Given the description of an element on the screen output the (x, y) to click on. 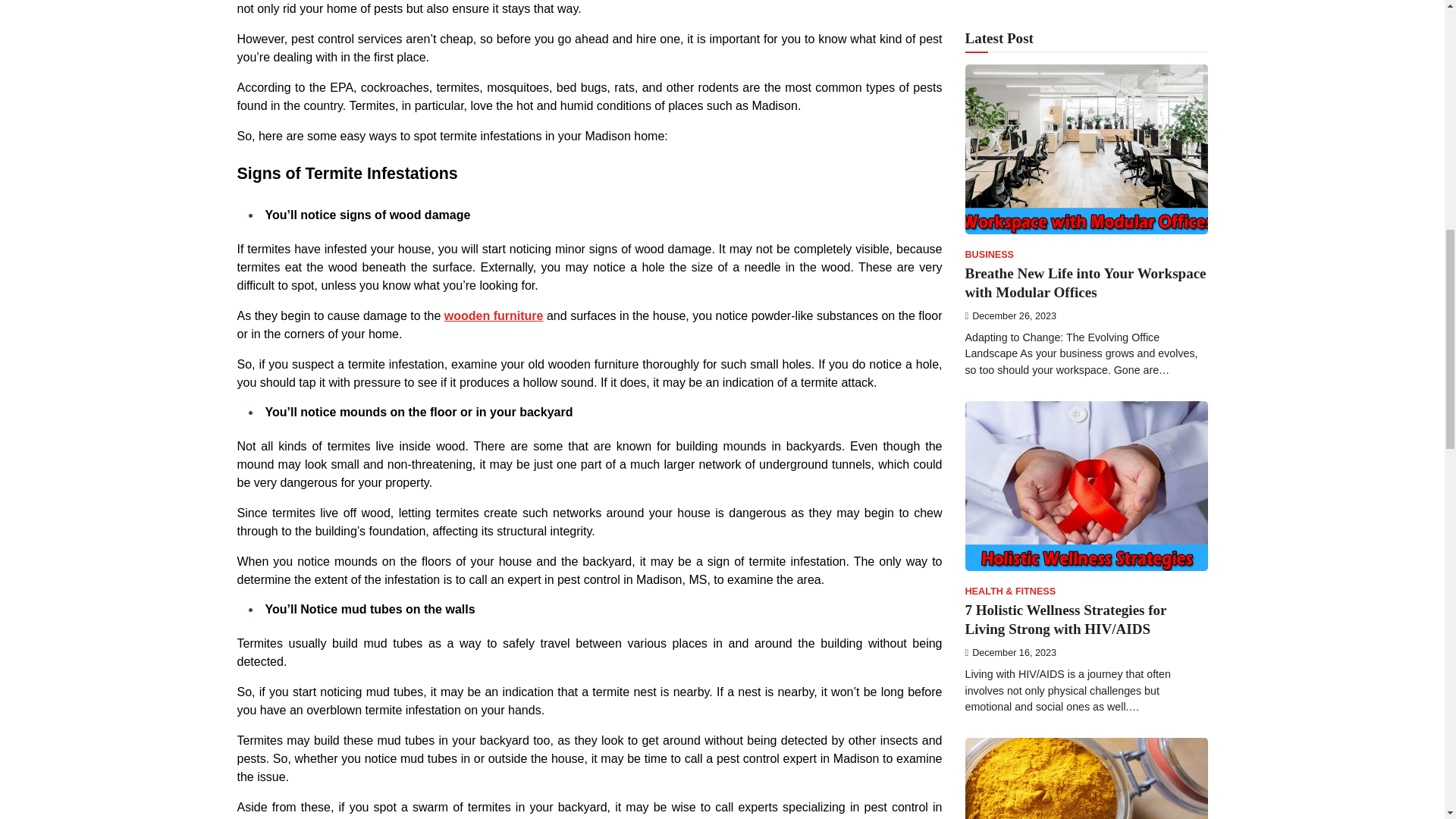
7 Natural Pain Relief Methods You Need to Try (1071, 307)
HEALTH CARE (997, 279)
December 16, 2023 (1010, 4)
wooden furniture (493, 315)
December 13, 2023 (1010, 340)
